Given the description of an element on the screen output the (x, y) to click on. 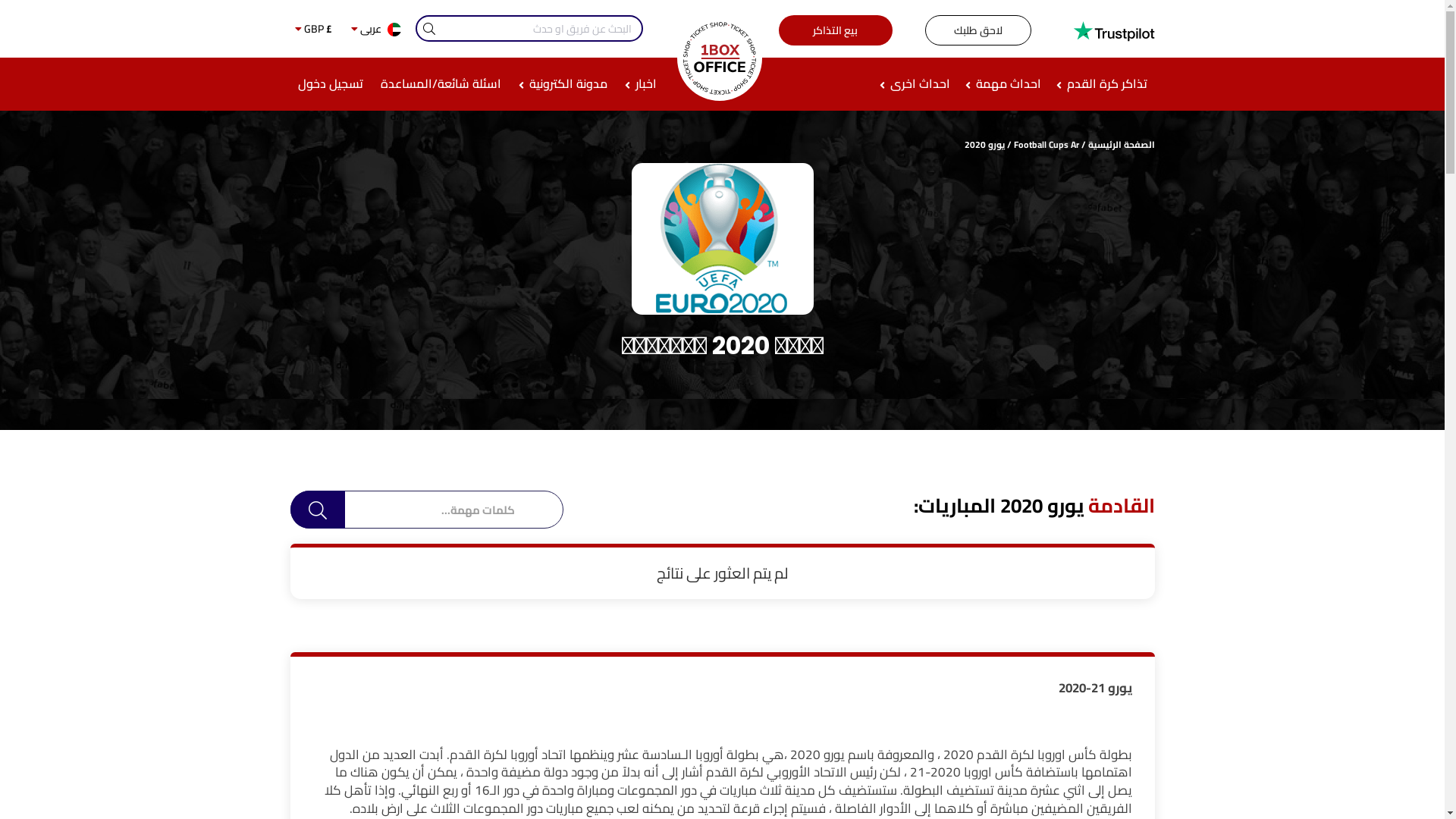
Football Cups Ar Element type: text (1045, 144)
